Given the description of an element on the screen output the (x, y) to click on. 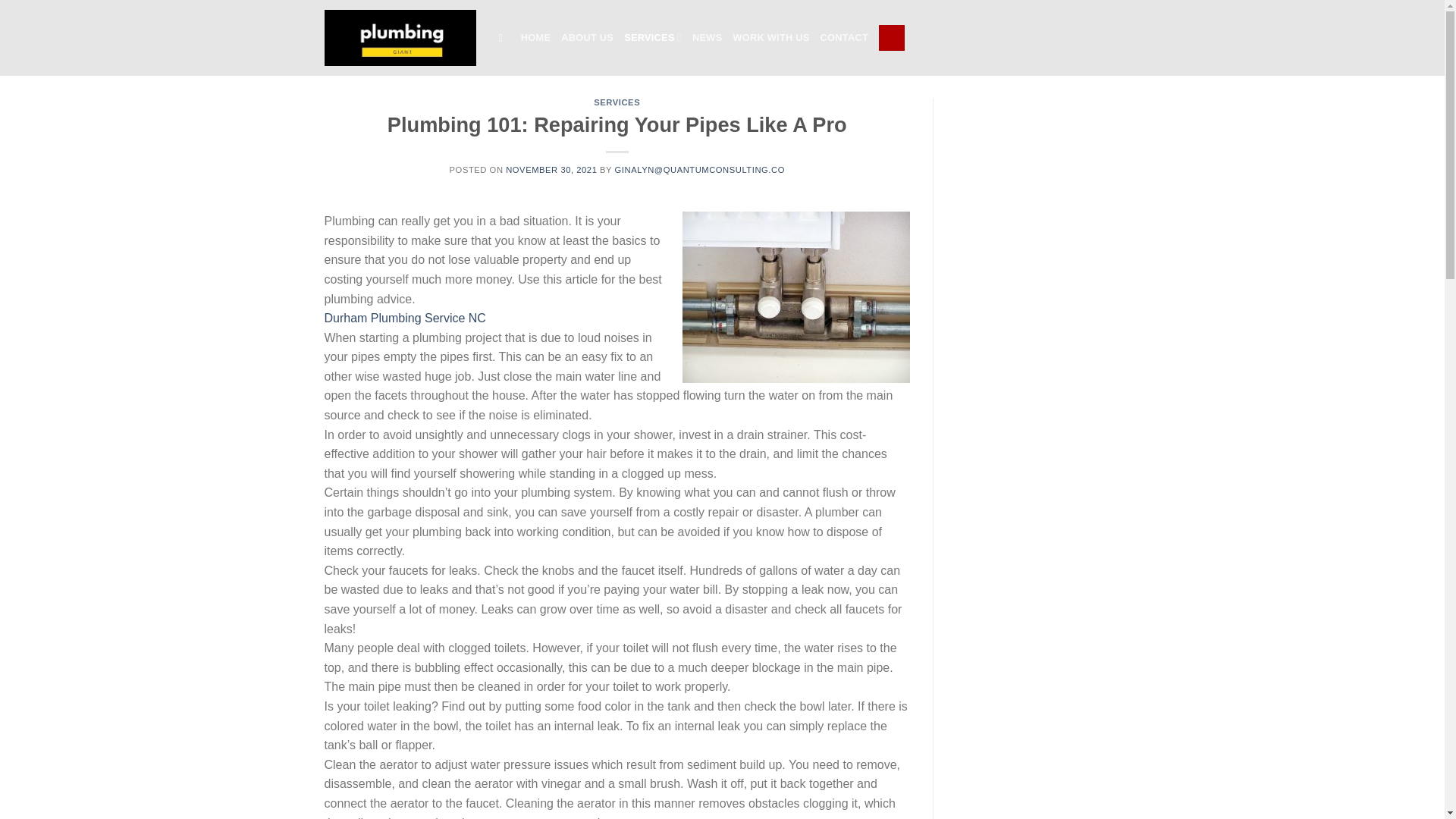
SERVICES (617, 102)
HOME (535, 37)
WORK WITH US (770, 37)
NOVEMBER 30, 2021 (550, 169)
SERVICES (652, 37)
CONTACT (844, 37)
Plumbing Giant - Call the BEST, flush the best (400, 37)
ABOUT US (586, 37)
NEWS (707, 37)
Durham Plumbing Service NC (405, 318)
